Given the description of an element on the screen output the (x, y) to click on. 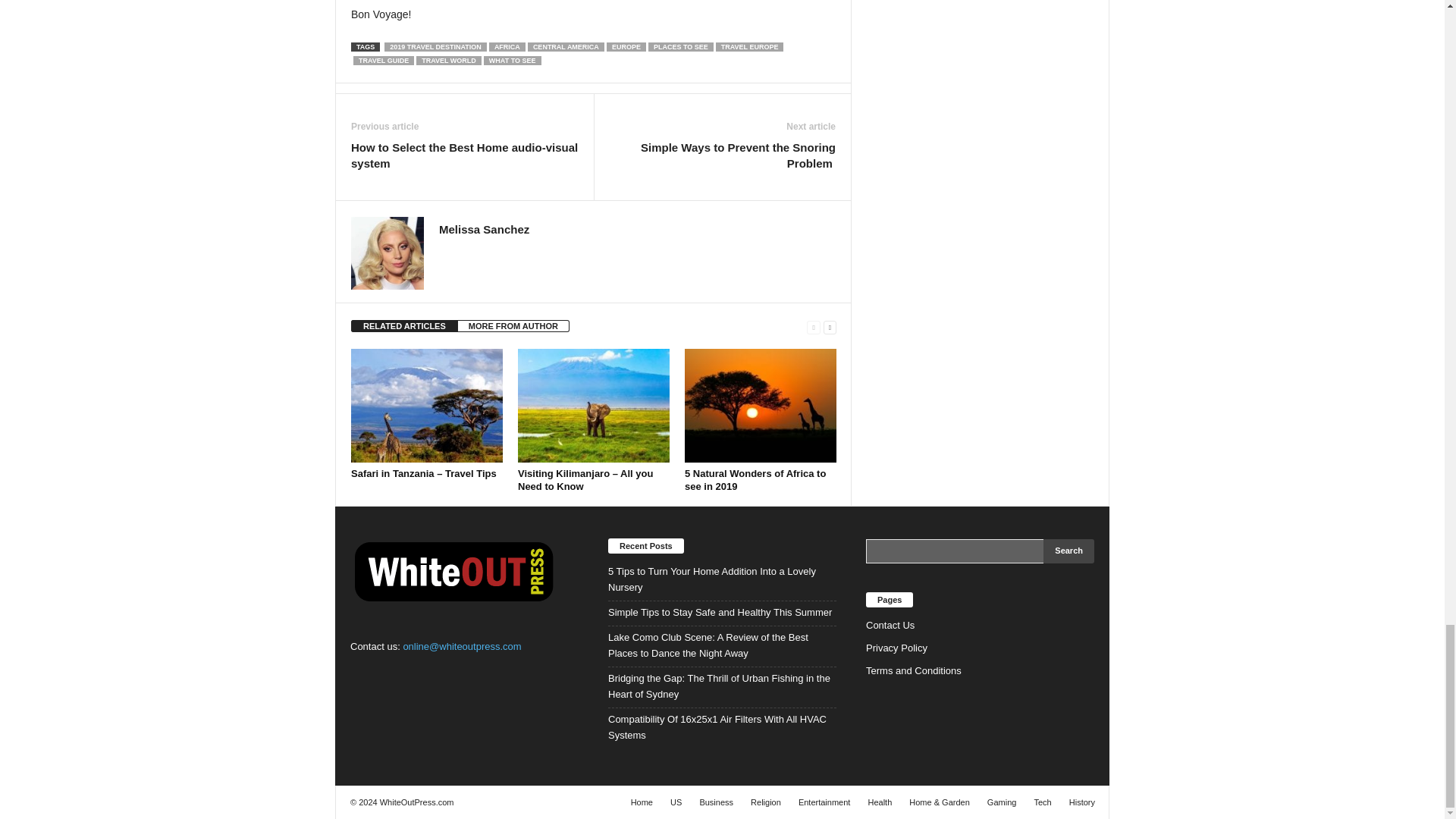
5 Natural Wonders of Africa to see in 2019 (754, 479)
Search (1068, 550)
5 Natural Wonders of Africa to see in 2019 (759, 405)
